Given the description of an element on the screen output the (x, y) to click on. 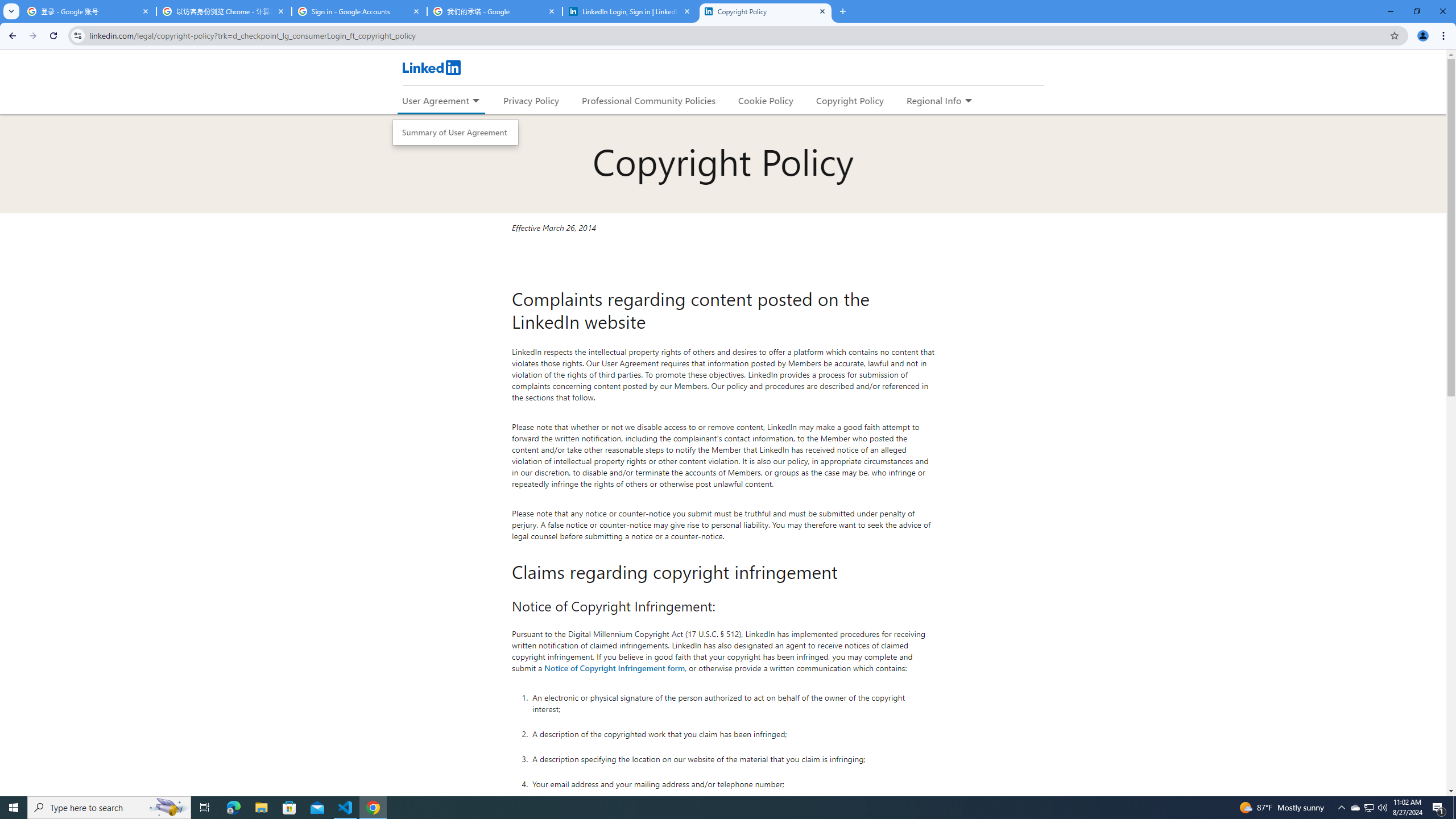
Professional Community Policies (649, 100)
LinkedIn Login, Sign in | LinkedIn (630, 11)
Address and search bar (735, 35)
Notice of Copyright Infringement form (614, 667)
Summary of User Agreement (455, 132)
Expand to show more links for User Agreement (475, 101)
Cookie Policy (765, 100)
Regional Info (933, 100)
